Given the description of an element on the screen output the (x, y) to click on. 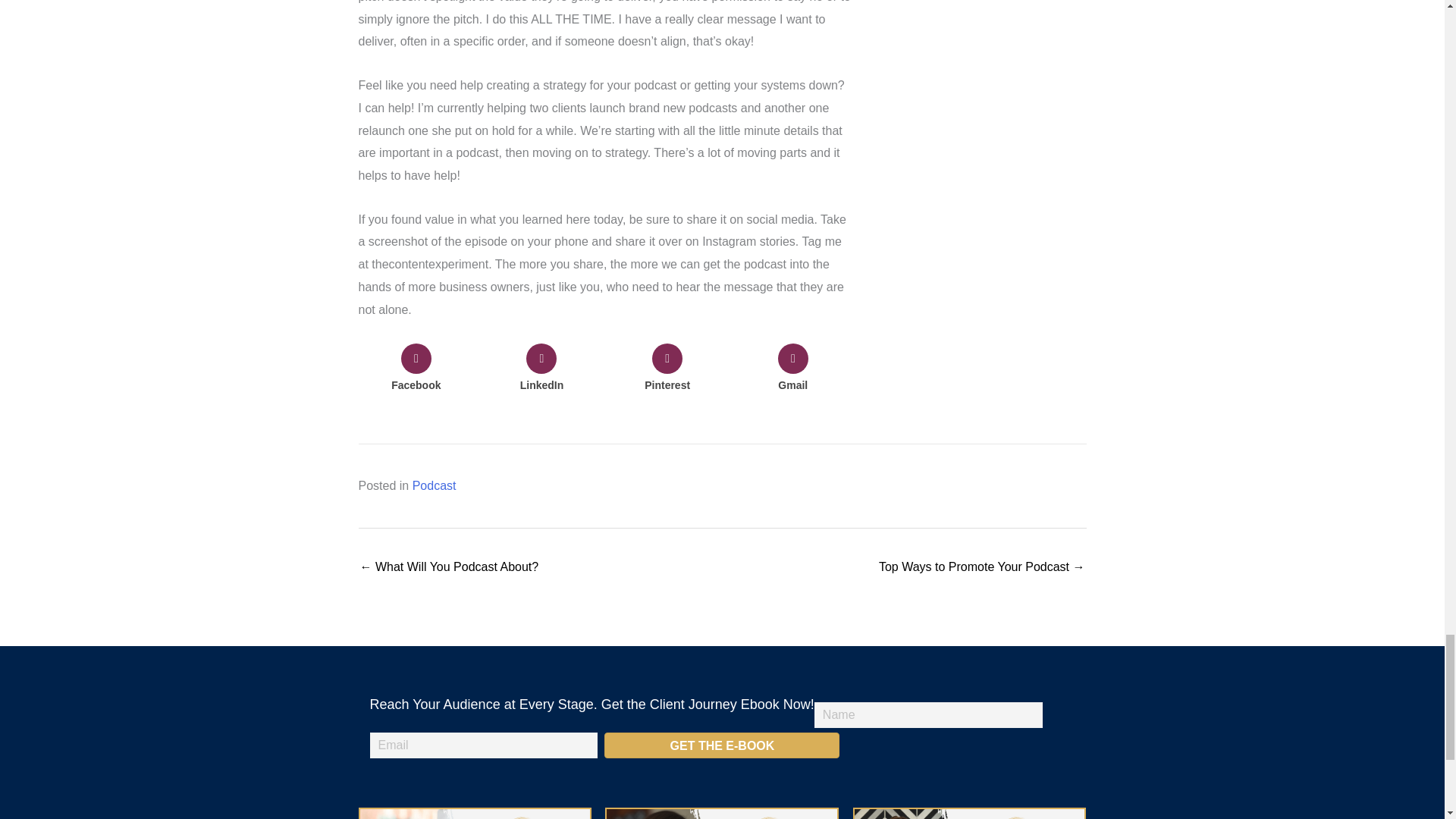
Pinterest (667, 370)
Gmail (792, 370)
LinkedIn (541, 370)
Facebook (416, 370)
